Given the description of an element on the screen output the (x, y) to click on. 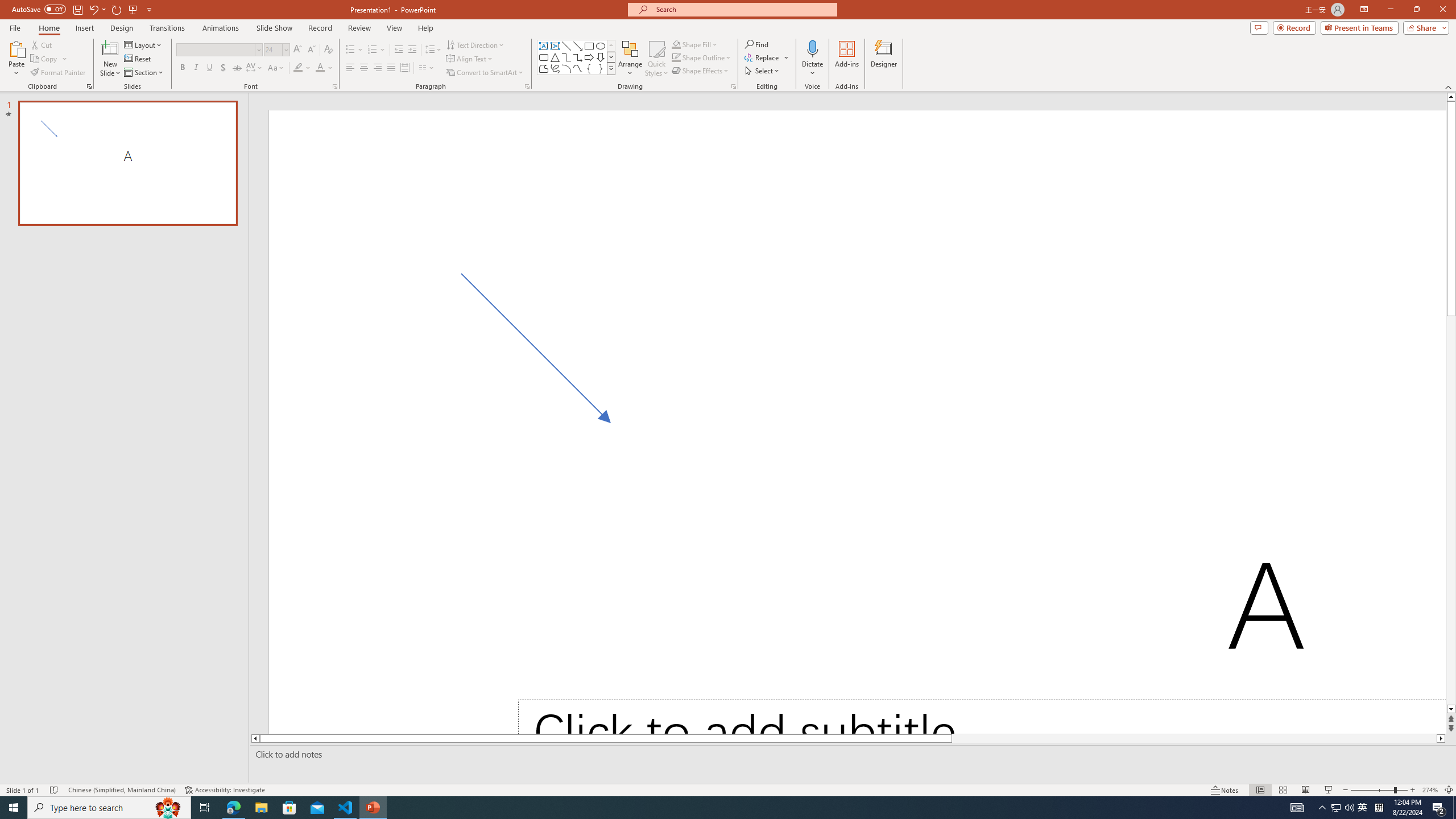
Straight Arrow Connector 4 (542, 354)
